Given the description of an element on the screen output the (x, y) to click on. 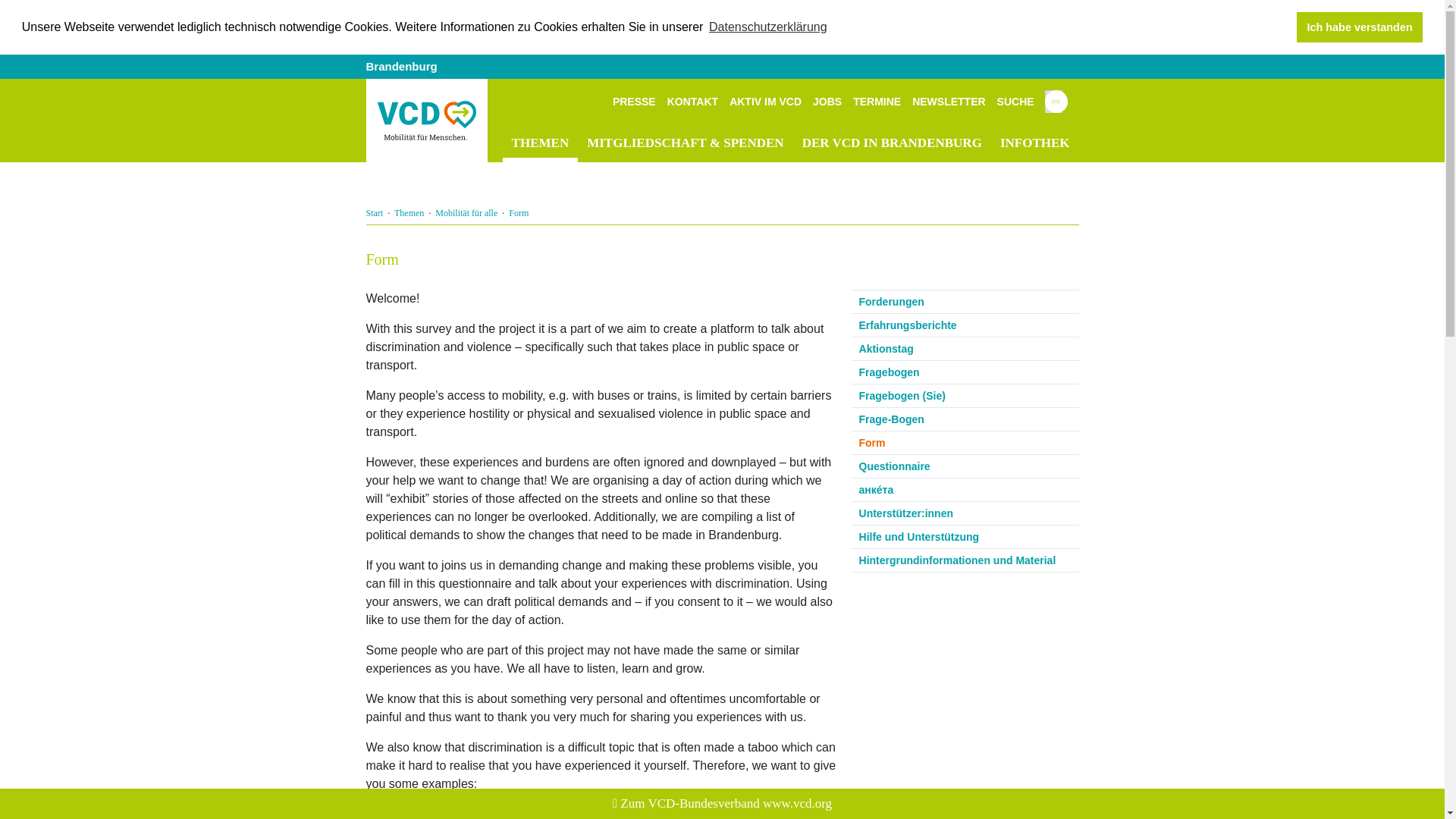
TERMINE (877, 101)
KONTAKT (691, 101)
NEWSLETTER (948, 101)
PRESSE (634, 101)
AKTIV IM VCD (765, 101)
JOBS (826, 101)
Ich habe verstanden (1359, 27)
THEMEN (540, 142)
